Given the description of an element on the screen output the (x, y) to click on. 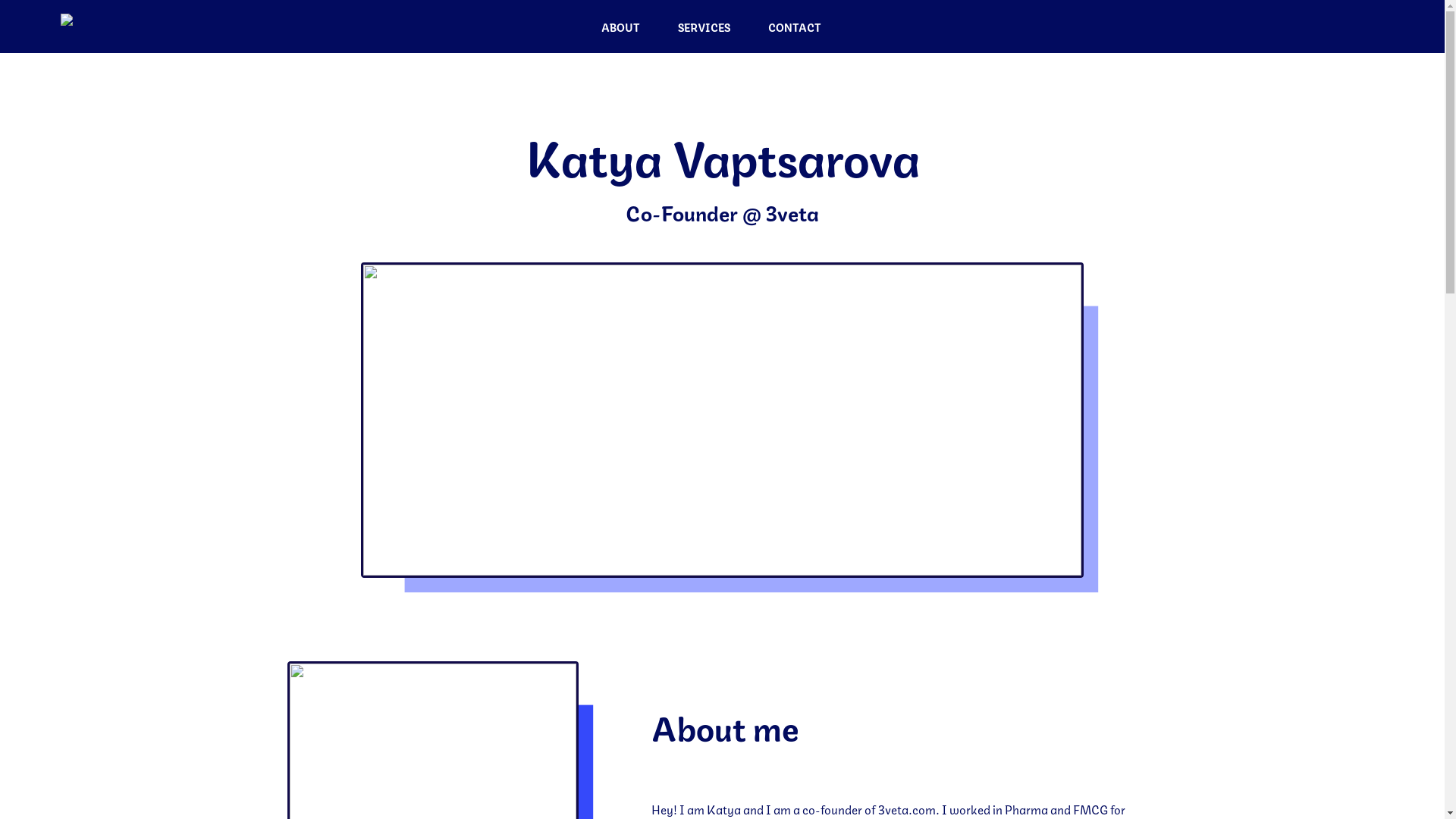
SERVICES Element type: text (703, 26)
ABOUT Element type: text (620, 26)
CONTACT Element type: text (794, 26)
